Given the description of an element on the screen output the (x, y) to click on. 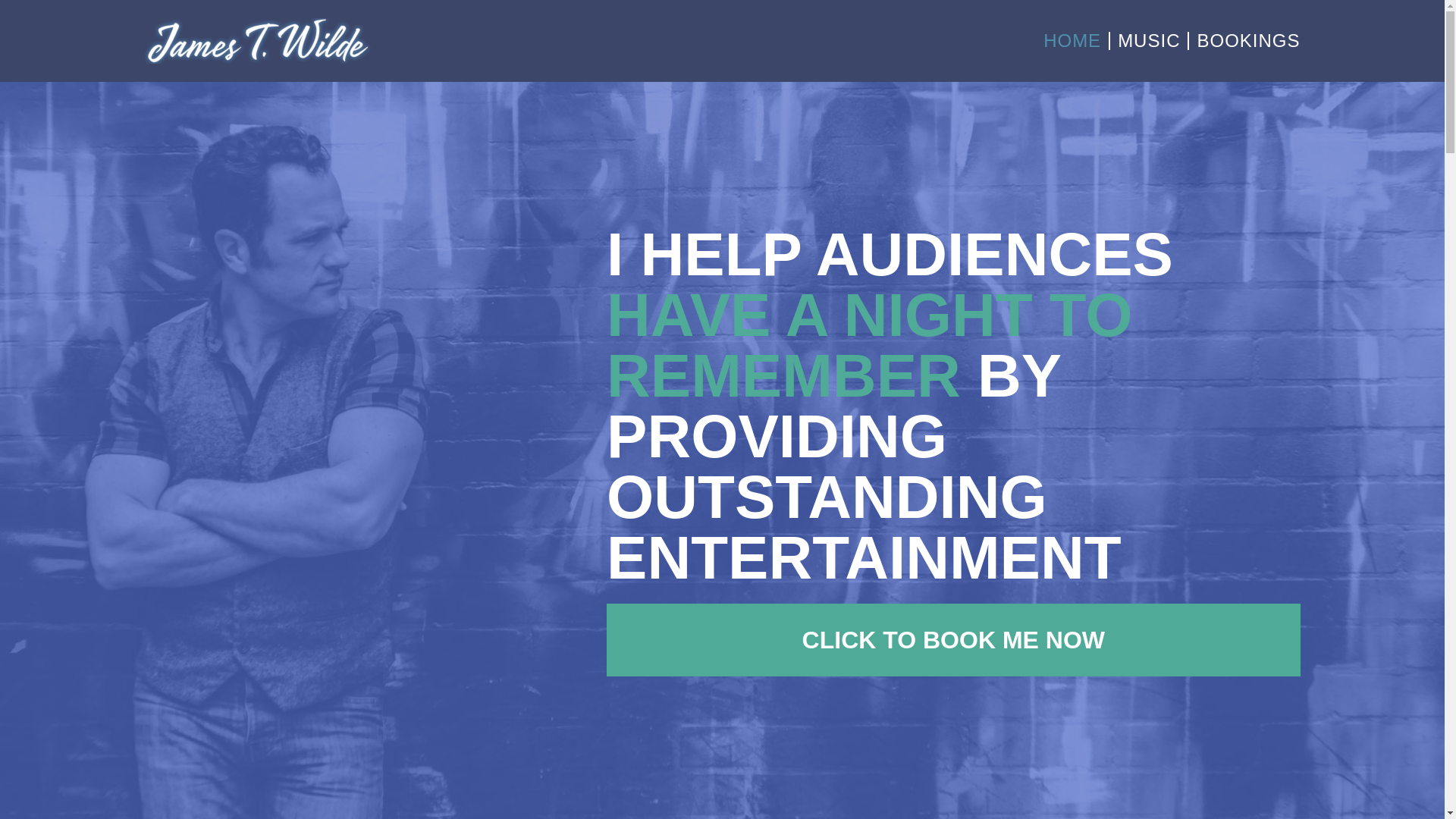
HOME (1071, 40)
BOOKINGS (1248, 40)
CLICK TO BOOK ME NOW (953, 639)
MUSIC (1148, 40)
